Given the description of an element on the screen output the (x, y) to click on. 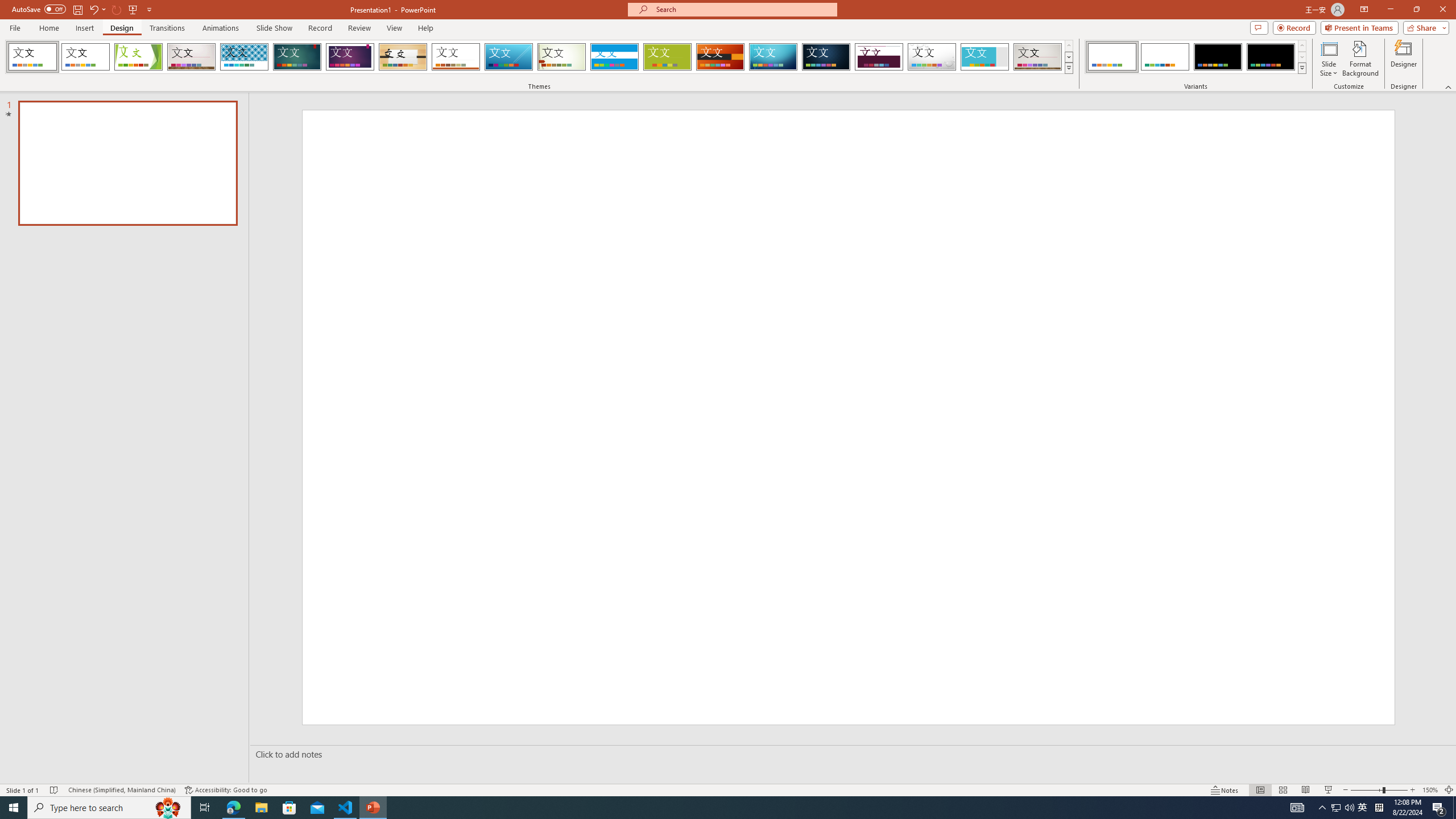
AutomationID: SlideThemesGallery (539, 56)
Ion Boardroom Loading Preview... (350, 56)
AutomationID: ThemeVariantsGallery (1195, 56)
